Given the description of an element on the screen output the (x, y) to click on. 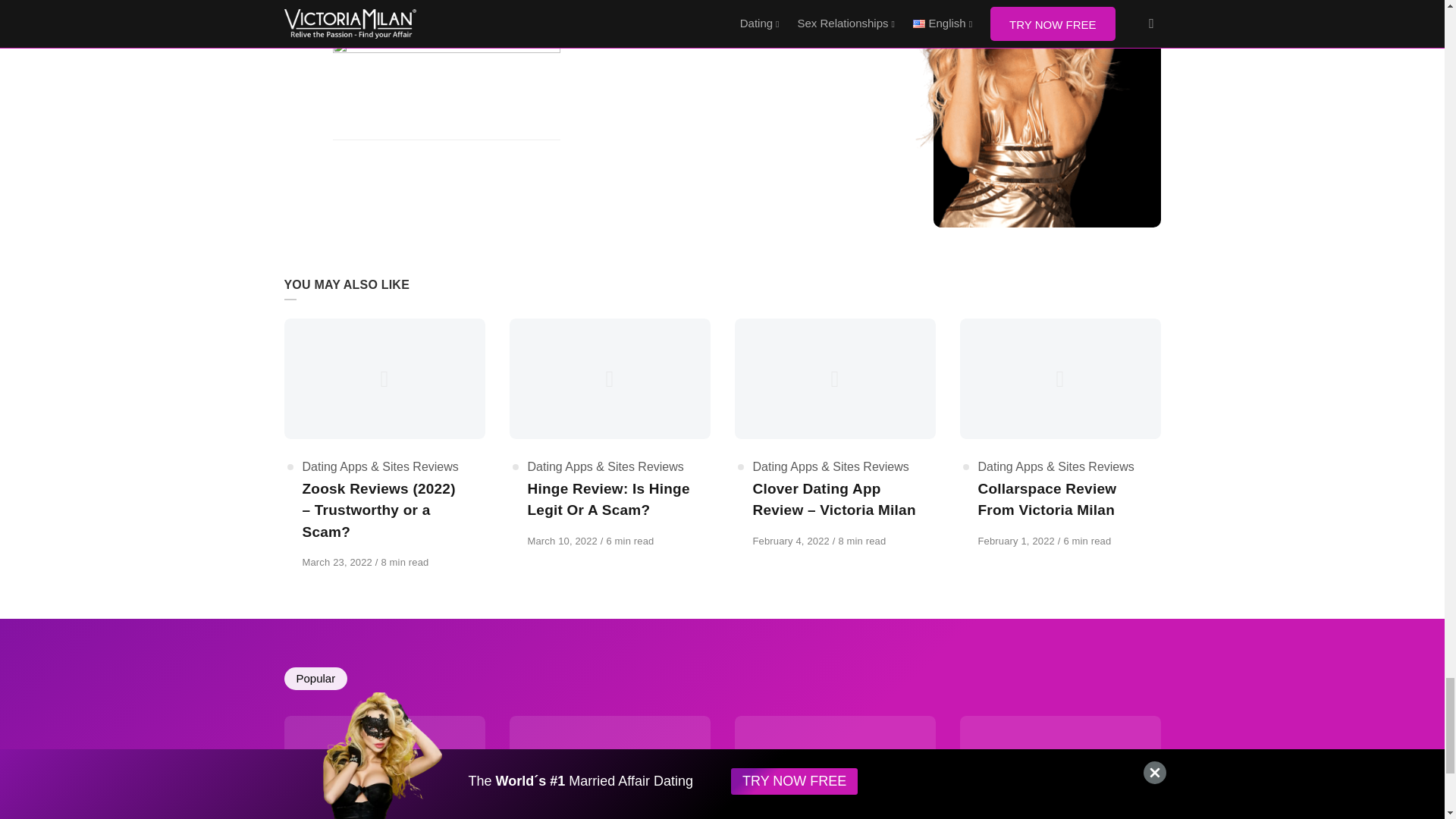
February 4, 2022 (791, 541)
March 23, 2022 (337, 562)
February 1, 2022 (1018, 541)
March 10, 2022 (563, 541)
